Given the description of an element on the screen output the (x, y) to click on. 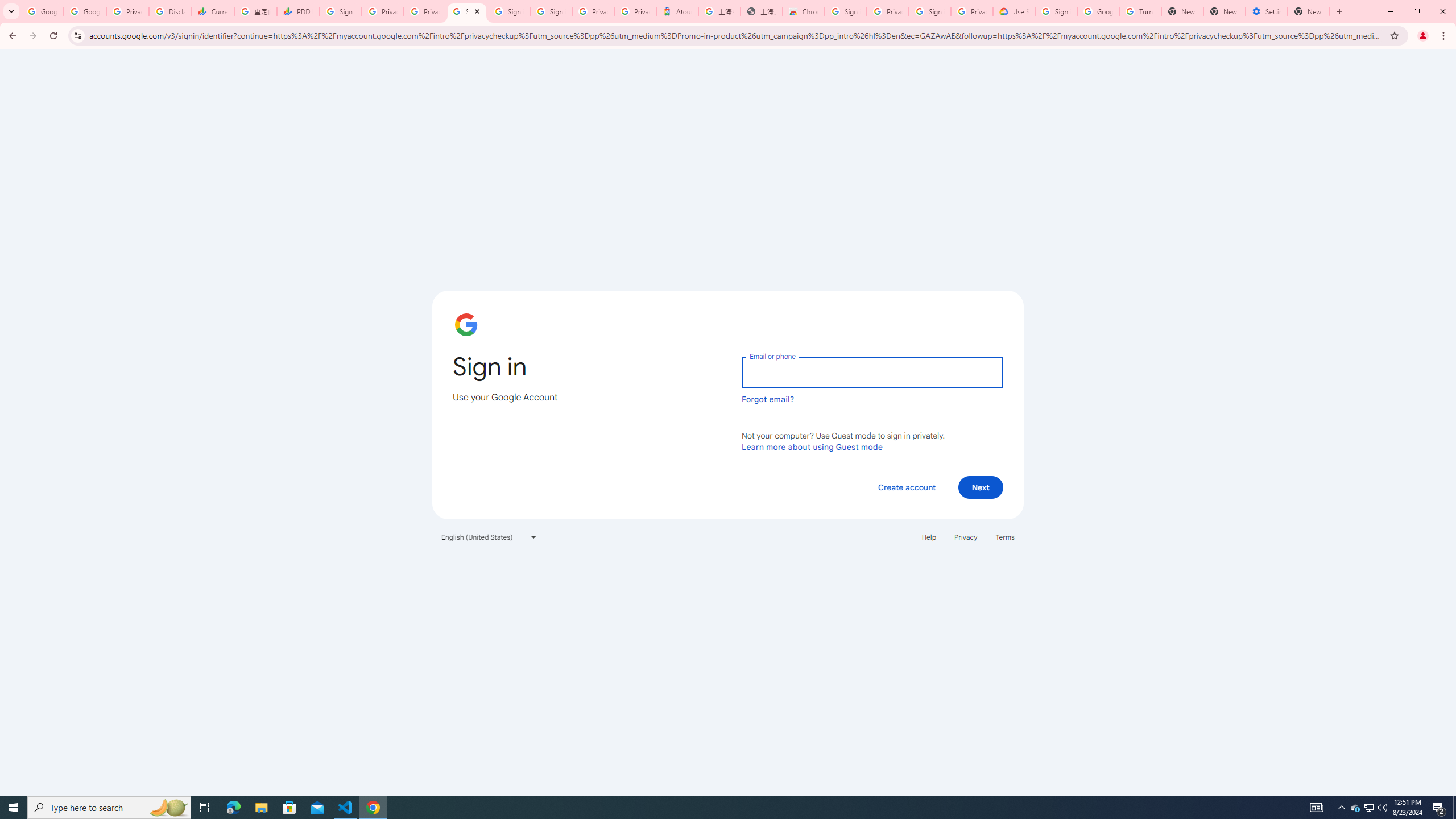
Sign in - Google Accounts (550, 11)
Turn cookies on or off - Computer - Google Account Help (1139, 11)
Create account (905, 486)
Google Workspace Admin Community (42, 11)
Sign in - Google Accounts (845, 11)
Atour Hotel - Google hotels (676, 11)
